Given the description of an element on the screen output the (x, y) to click on. 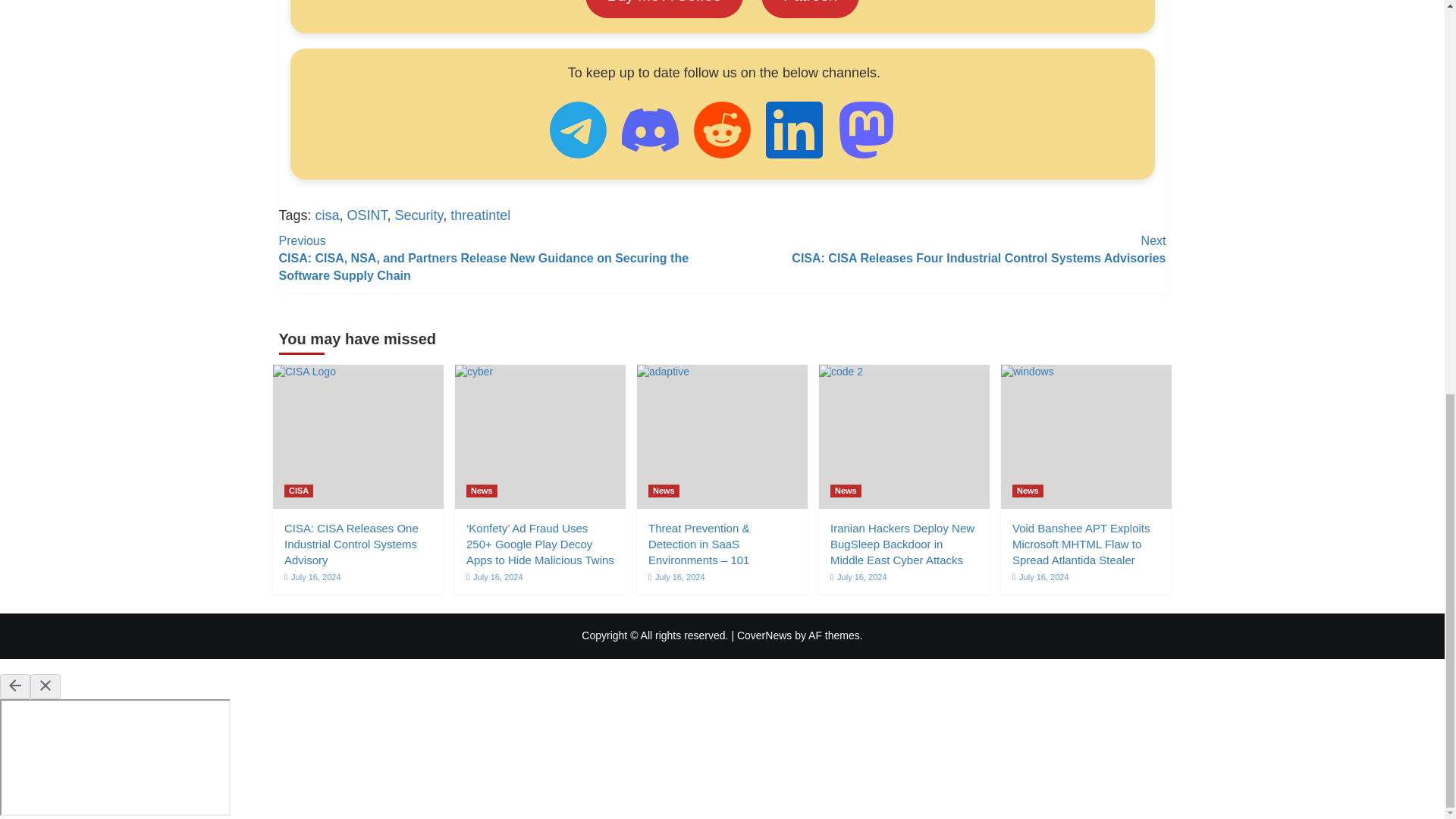
Reddit (722, 129)
LinkedIn (793, 129)
Mastodon (866, 129)
Discord (649, 129)
Telegram (578, 129)
